Given the description of an element on the screen output the (x, y) to click on. 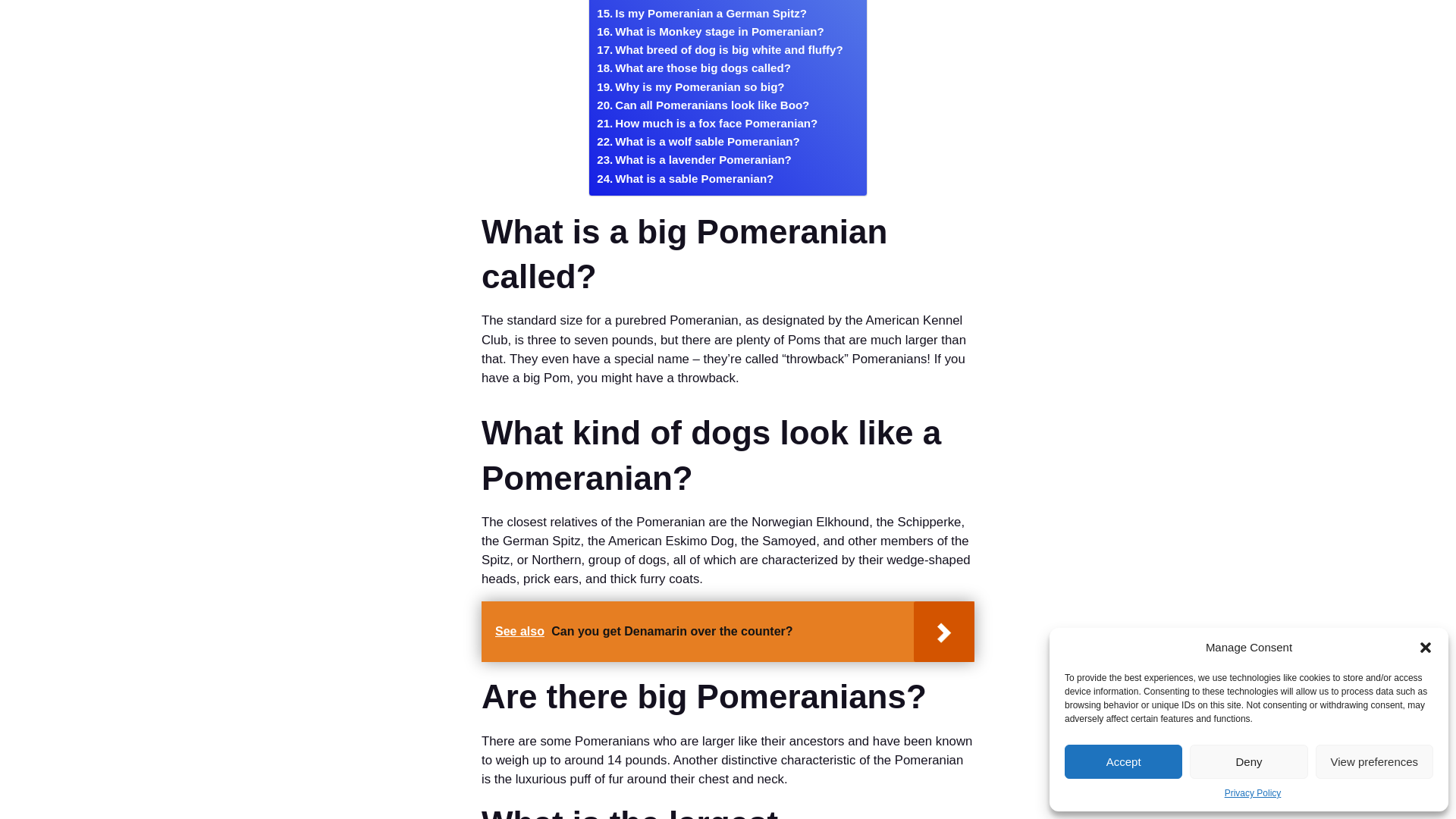
Are there different breeds of Pomeranians? (723, 2)
Is my Pomeranian a German Spitz? (701, 13)
What is Monkey stage in Pomeranian? (710, 31)
Are there different breeds of Pomeranians? (723, 2)
Is my Pomeranian a German Spitz? (701, 13)
